Given the description of an element on the screen output the (x, y) to click on. 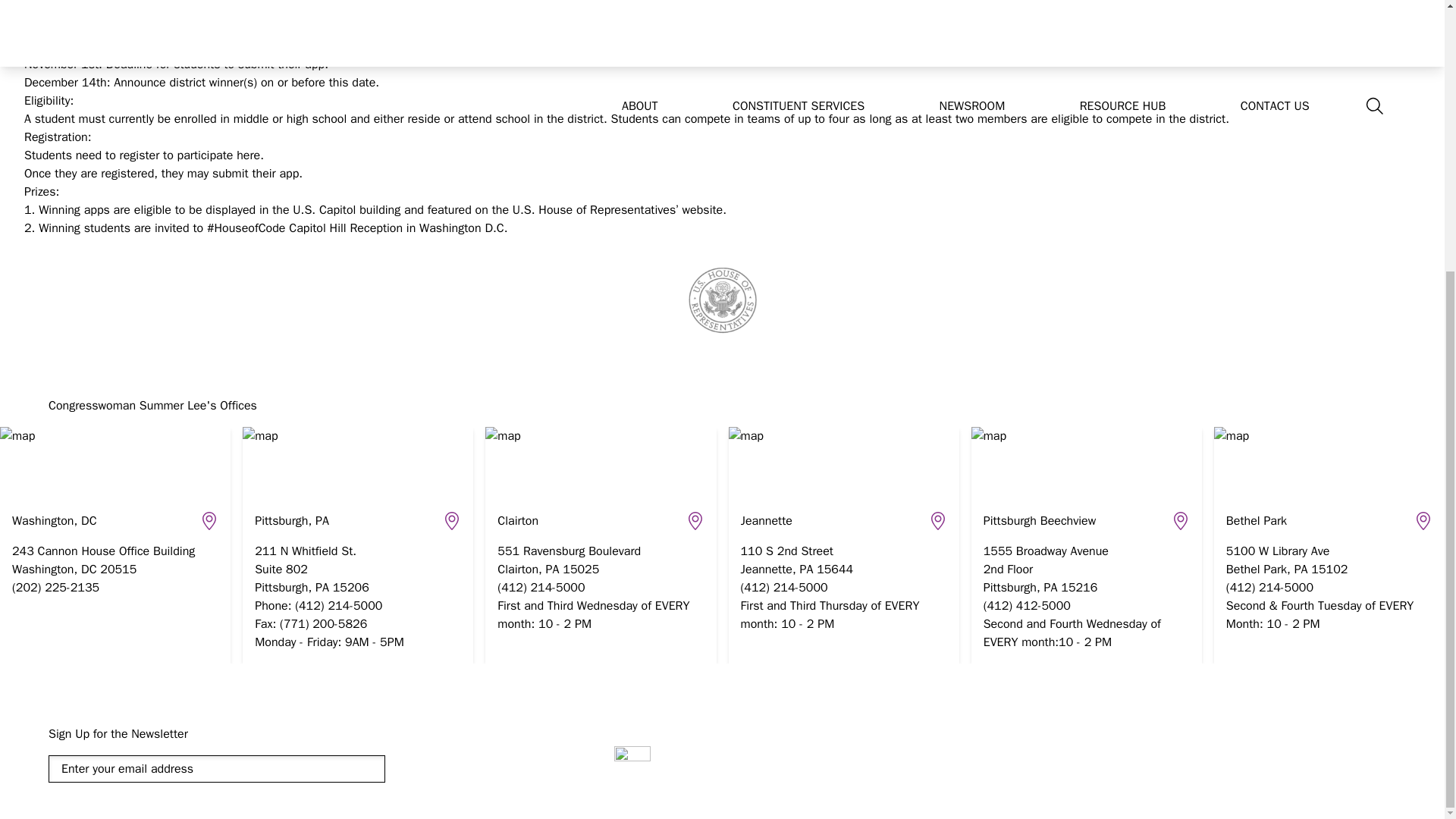
register to participate here (189, 155)
SIGN UP (442, 772)
